Given the description of an element on the screen output the (x, y) to click on. 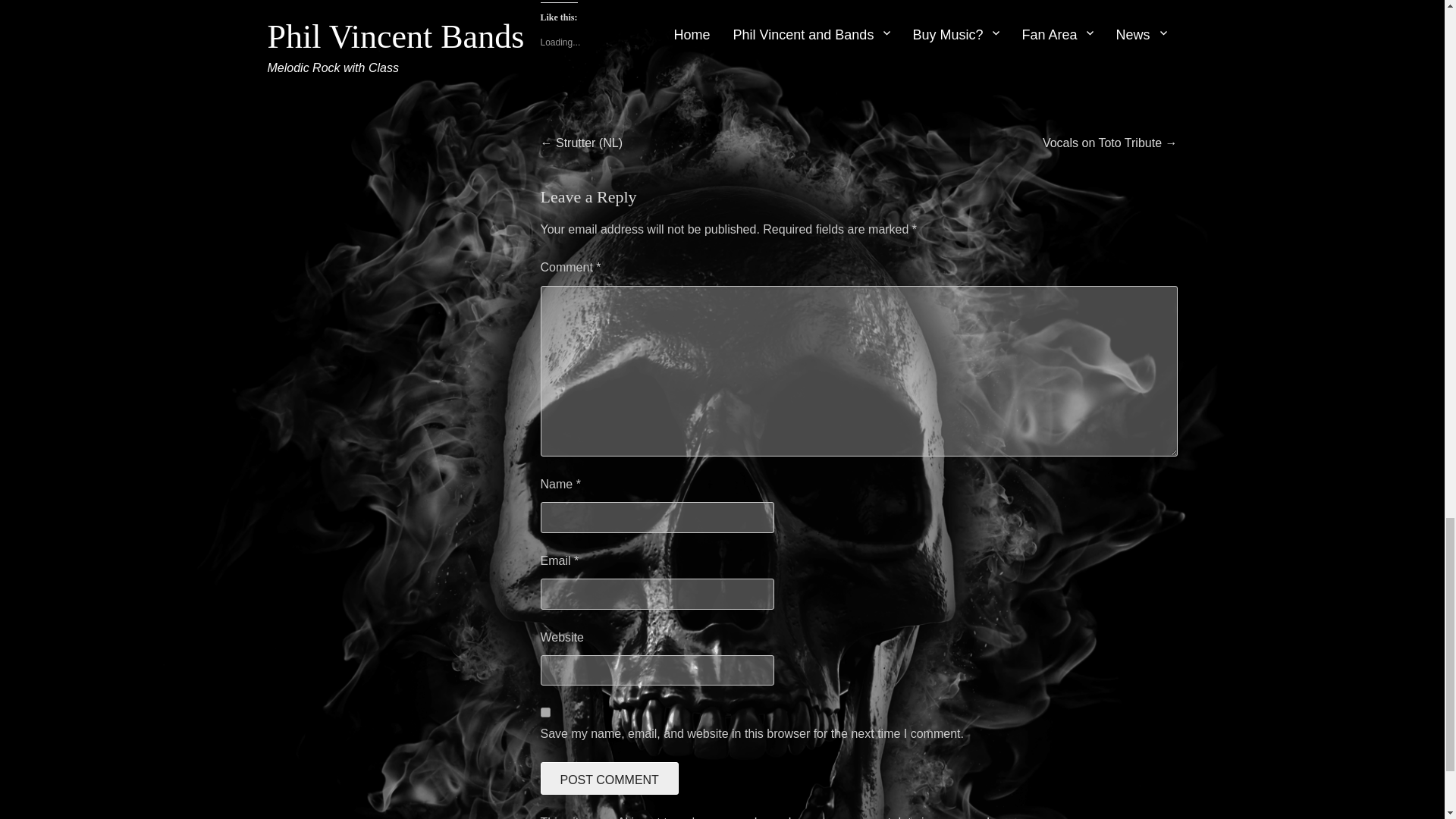
yes (545, 712)
Post Comment (609, 778)
Like or Reblog (858, 94)
